Given the description of an element on the screen output the (x, y) to click on. 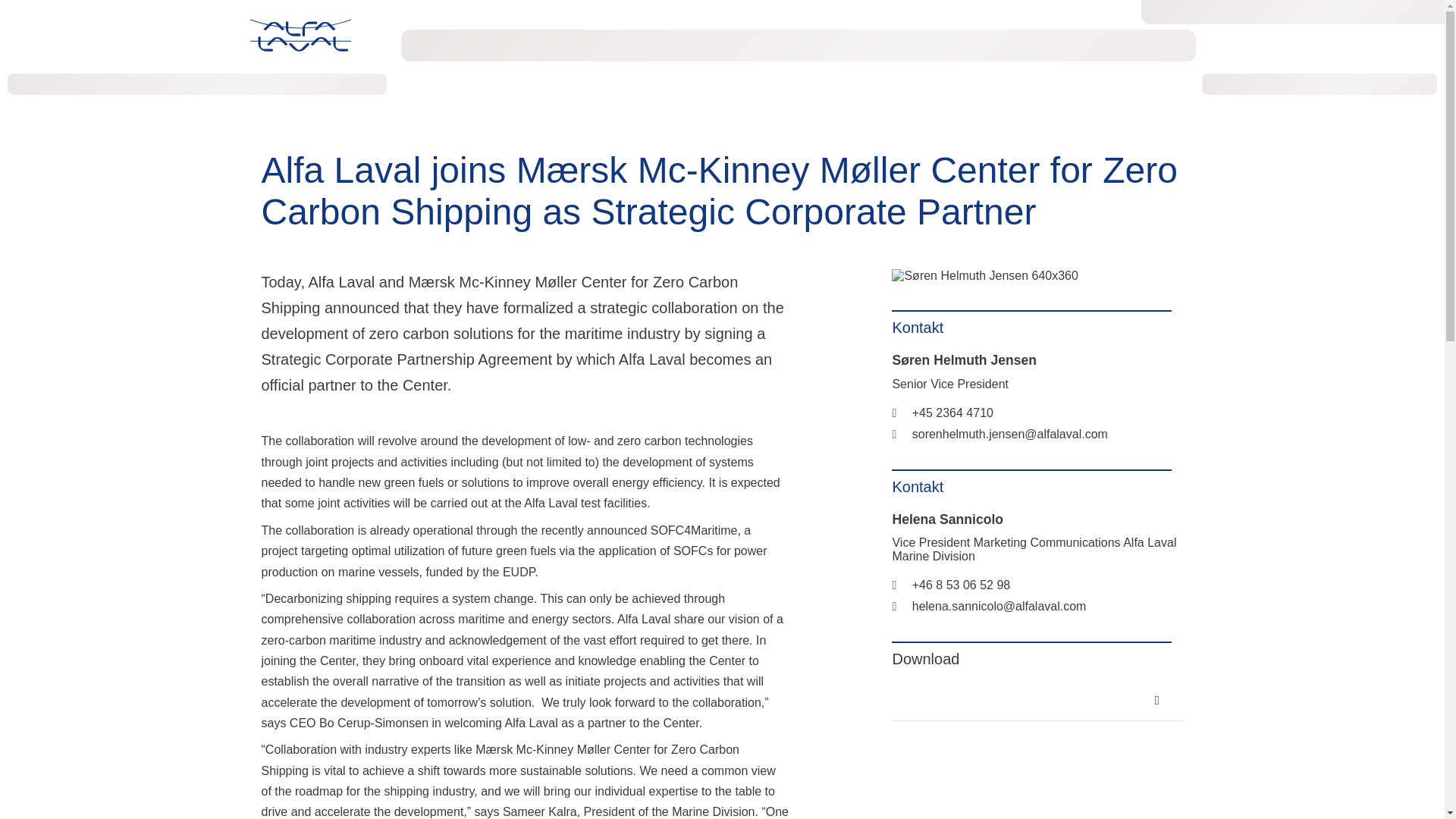
Phone (941, 412)
Phone (950, 584)
Email (988, 605)
Email (998, 433)
